Given the description of an element on the screen output the (x, y) to click on. 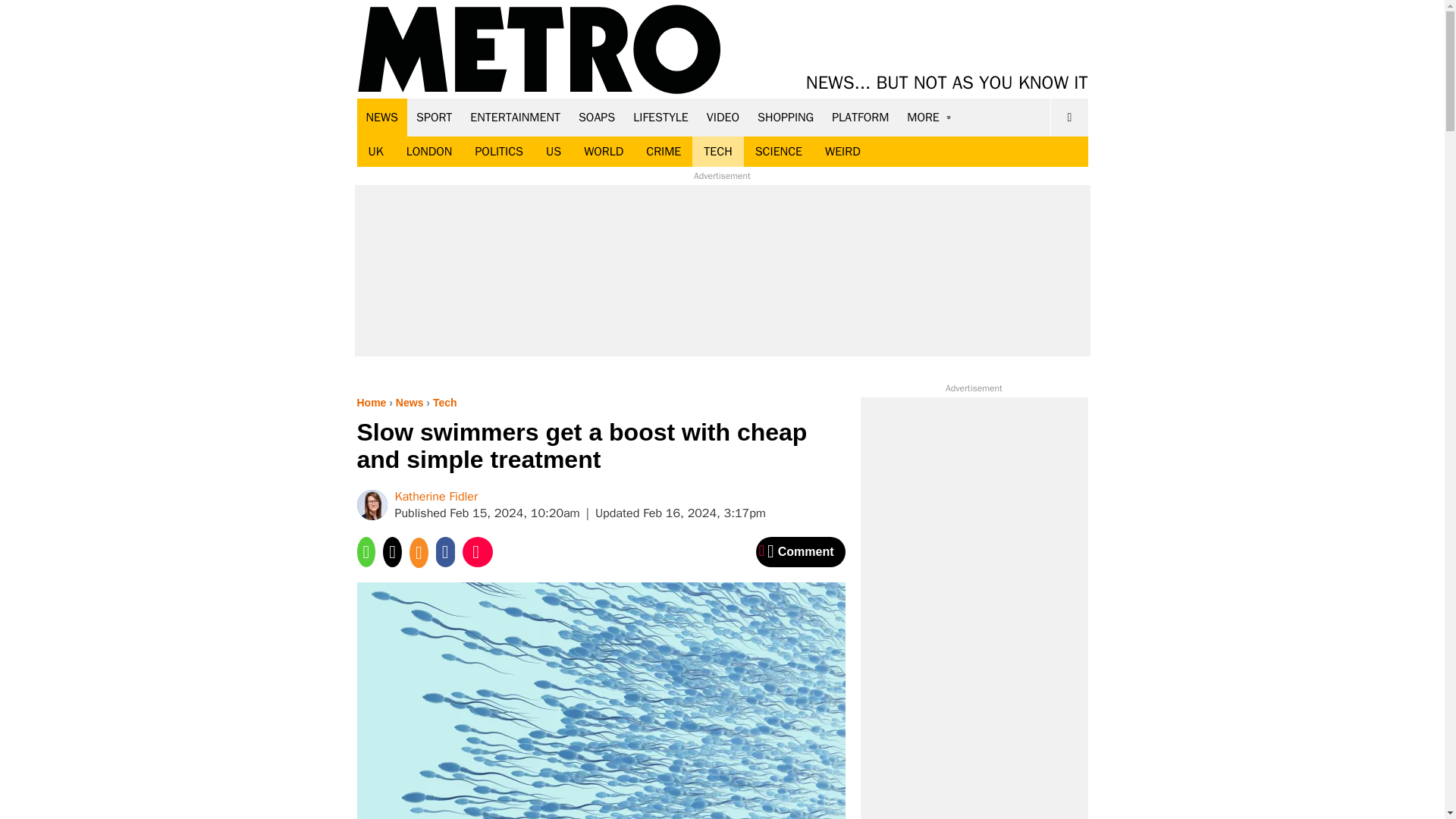
SCIENCE (778, 151)
UK (375, 151)
WEIRD (842, 151)
NEWS (381, 117)
CRIME (663, 151)
WORLD (603, 151)
Metro (539, 50)
LIFESTYLE (660, 117)
ENTERTAINMENT (515, 117)
SPORT (434, 117)
SOAPS (596, 117)
LONDON (429, 151)
US (553, 151)
POLITICS (498, 151)
TECH (717, 151)
